Given the description of an element on the screen output the (x, y) to click on. 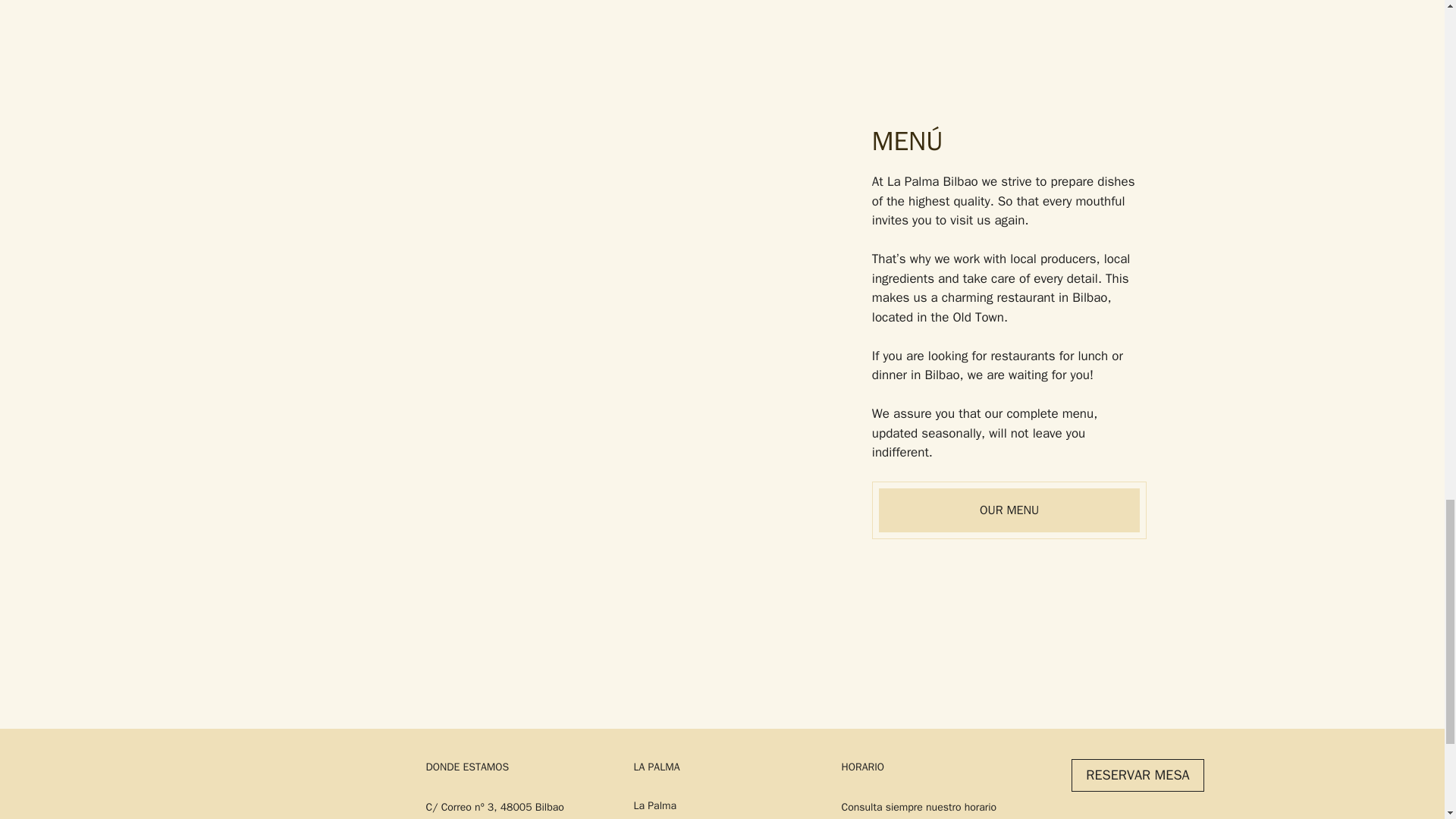
OUR MENU (1009, 509)
RESERVAR MESA (1137, 775)
La Palma (655, 805)
